Given the description of an element on the screen output the (x, y) to click on. 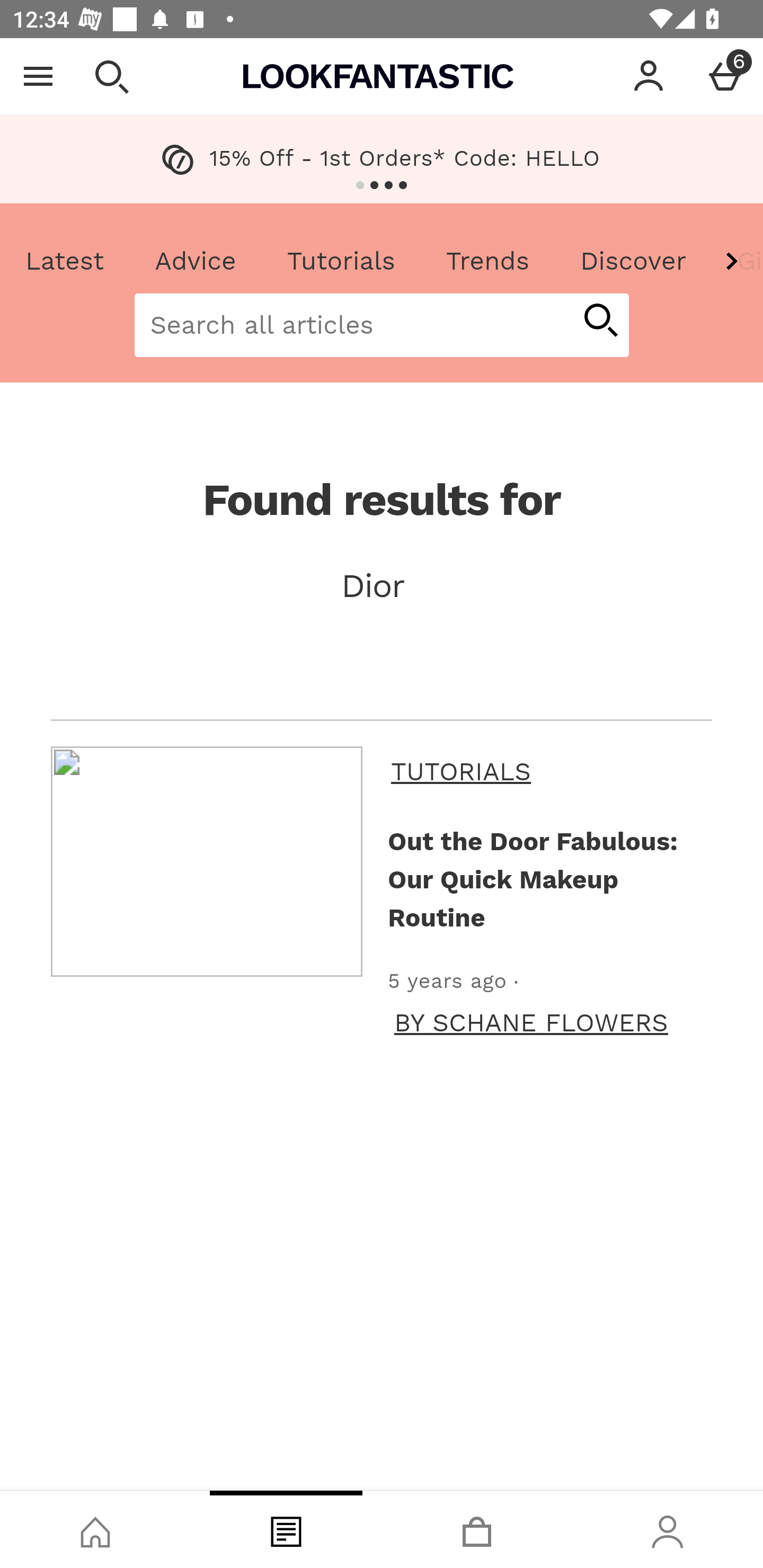
Open Menu (38, 75)
Open search (111, 75)
Account (648, 75)
Basket Menu (724, 75)
15% Off - 1st Orders* Code: HELLO (381, 158)
Latest (65, 261)
Advice (195, 261)
Tutorials (340, 261)
Trends (486, 261)
Discover (632, 261)
Gift Guide (736, 261)
start article search (599, 321)
Dior (381, 585)
TUTORIALS (547, 771)
Out the Door Fabulous: Our Quick Makeup Routine (546, 879)
BY SCHANE FLOWERS (531, 1021)
Shop, tab, 1 of 4 (95, 1529)
Blog, tab, 2 of 4 (285, 1529)
Basket, tab, 3 of 4 (476, 1529)
Account, tab, 4 of 4 (667, 1529)
